Given the description of an element on the screen output the (x, y) to click on. 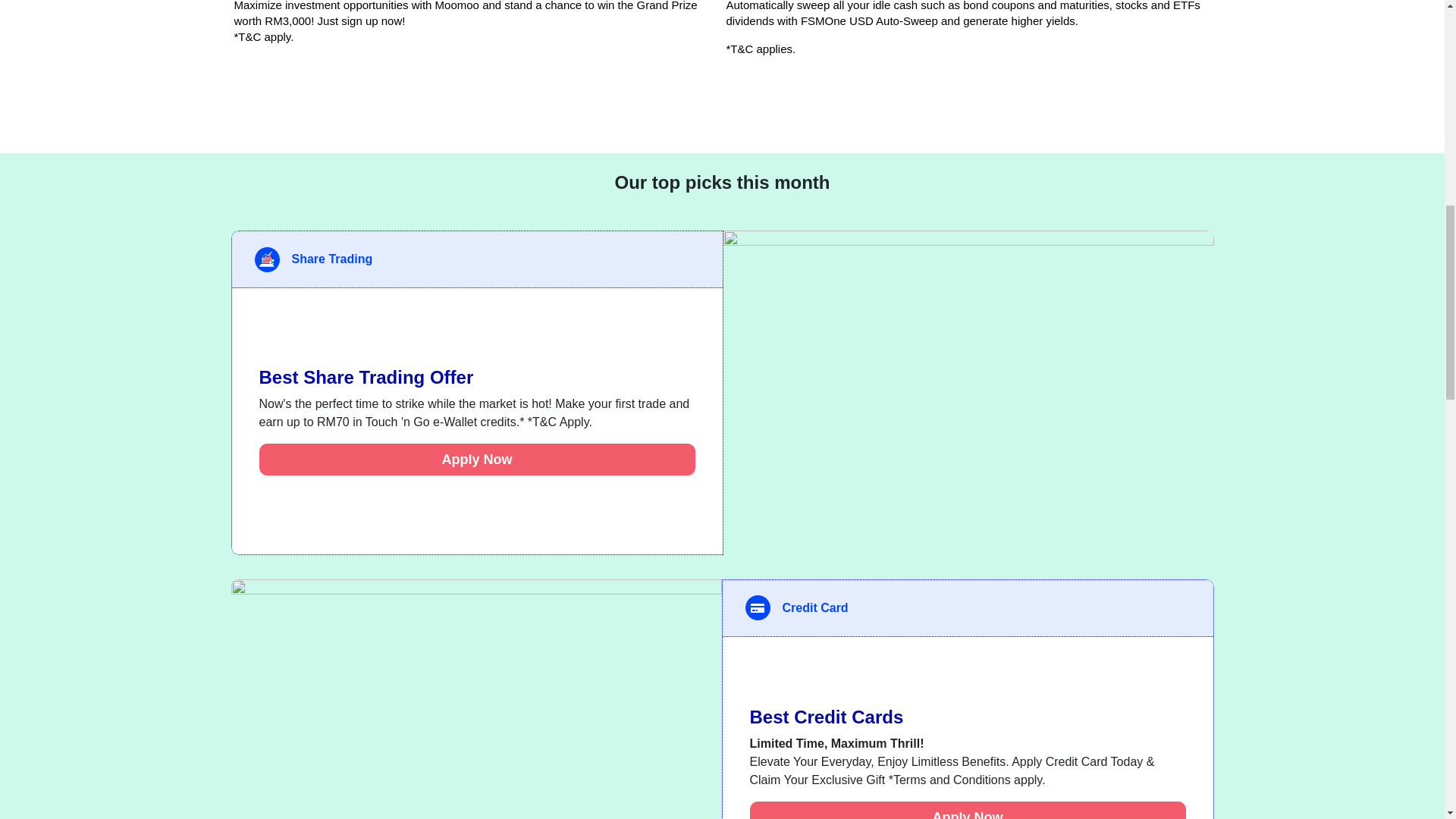
FSMOne USD Auto-Sweep (966, 28)
